Given the description of an element on the screen output the (x, y) to click on. 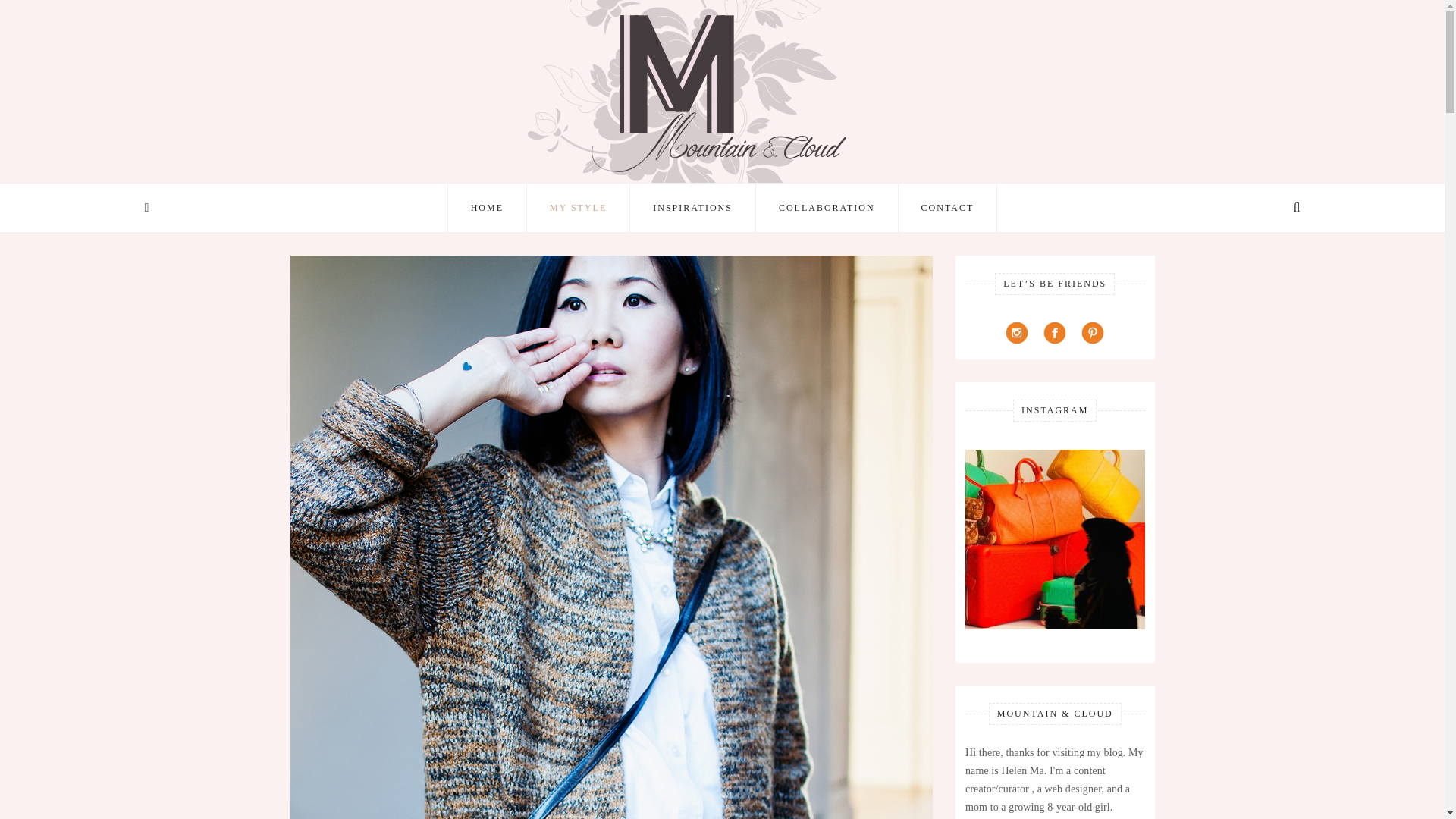
Facebook (1054, 332)
Inspirations (692, 207)
Collaboration (826, 207)
Pinterest (1093, 332)
My Style (578, 207)
MY STYLE (578, 207)
Pinterest (1092, 332)
Instagram (1016, 332)
Instagram (1016, 332)
Home (486, 207)
Contact (947, 207)
Facebook (1054, 332)
HOME (486, 207)
CONTACT (947, 207)
INSPIRATIONS (692, 207)
